Given the description of an element on the screen output the (x, y) to click on. 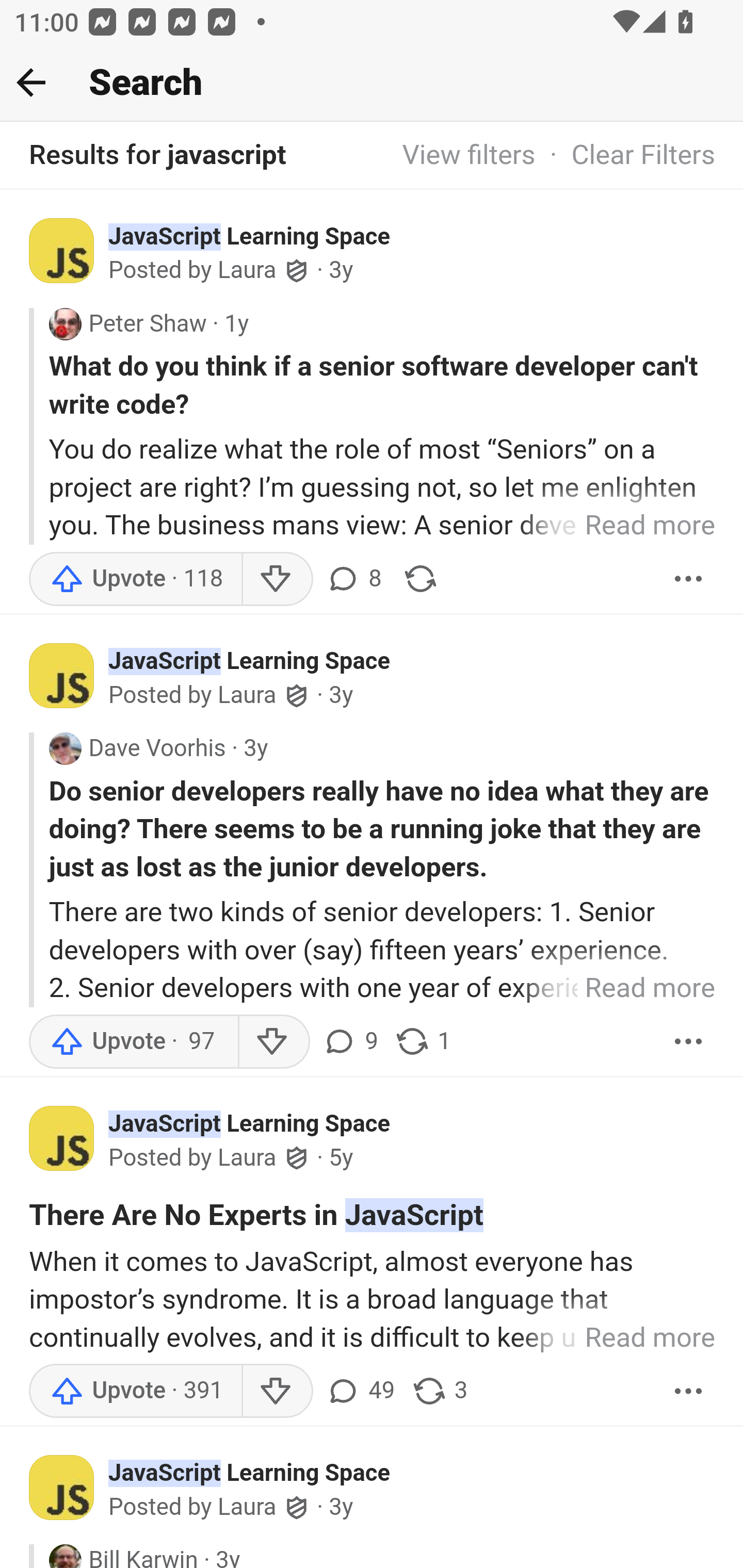
Back Search (371, 82)
Back (30, 82)
View filters (468, 155)
· Clear Filters · Clear Filters (625, 155)
Icon for JavaScript Learning Space (68, 255)
JavaScript Learning Space (249, 235)
Laura (246, 271)
3y 3 y (340, 270)
Profile photo for Peter Shaw (64, 323)
1y 1 y (235, 323)
Upvote (135, 578)
Downvote (277, 578)
8 comments (357, 578)
8 comments (353, 578)
Share (420, 578)
More (688, 578)
Icon for JavaScript Learning Space (68, 680)
JavaScript Learning Space (249, 660)
Laura (246, 695)
3y 3 y (340, 696)
Profile photo for Dave Voorhis (64, 748)
3y 3 y (255, 749)
Upvote Downvote (173, 1040)
Upvote (133, 1040)
Downvote (273, 1040)
9 comments (353, 1040)
1 share (421, 1040)
More (688, 1040)
Icon for JavaScript Learning Space (68, 1141)
JavaScript Learning Space (249, 1123)
Laura (246, 1157)
5y 5 y (340, 1157)
Upvote Downvote (174, 1391)
Upvote (135, 1391)
Downvote (277, 1391)
49 comments (363, 1391)
3 shares (439, 1391)
More (688, 1391)
Icon for JavaScript Learning Space (68, 1492)
JavaScript Learning Space (249, 1472)
Laura (246, 1506)
